Given the description of an element on the screen output the (x, y) to click on. 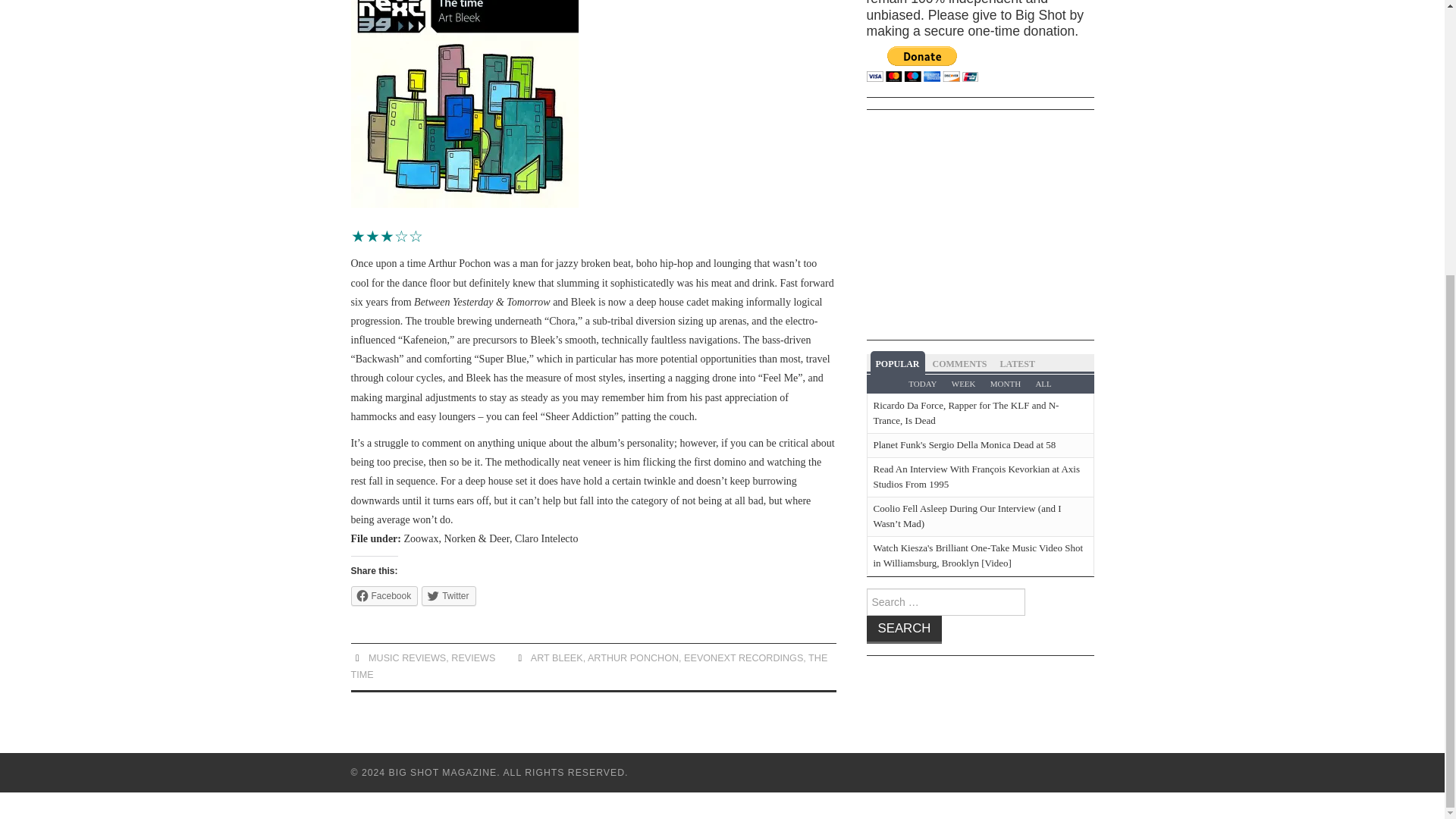
MUSIC REVIEWS (406, 657)
Ricardo Da Force, Rapper for The KLF and N-Trance, Is Dead (966, 412)
Facebook (383, 596)
REVIEWS (473, 657)
ART BLEEK (557, 657)
Advertisement (1155, 227)
Click to share on Facebook (383, 596)
art bleek the time (464, 104)
EEVONEXT RECORDINGS (743, 657)
THE TIME (588, 666)
Twitter (449, 596)
Search (904, 629)
POPULAR (897, 362)
Planet Funk's Sergio Della Monica Dead at 58 (965, 444)
ARTHUR PONCHON (633, 657)
